Given the description of an element on the screen output the (x, y) to click on. 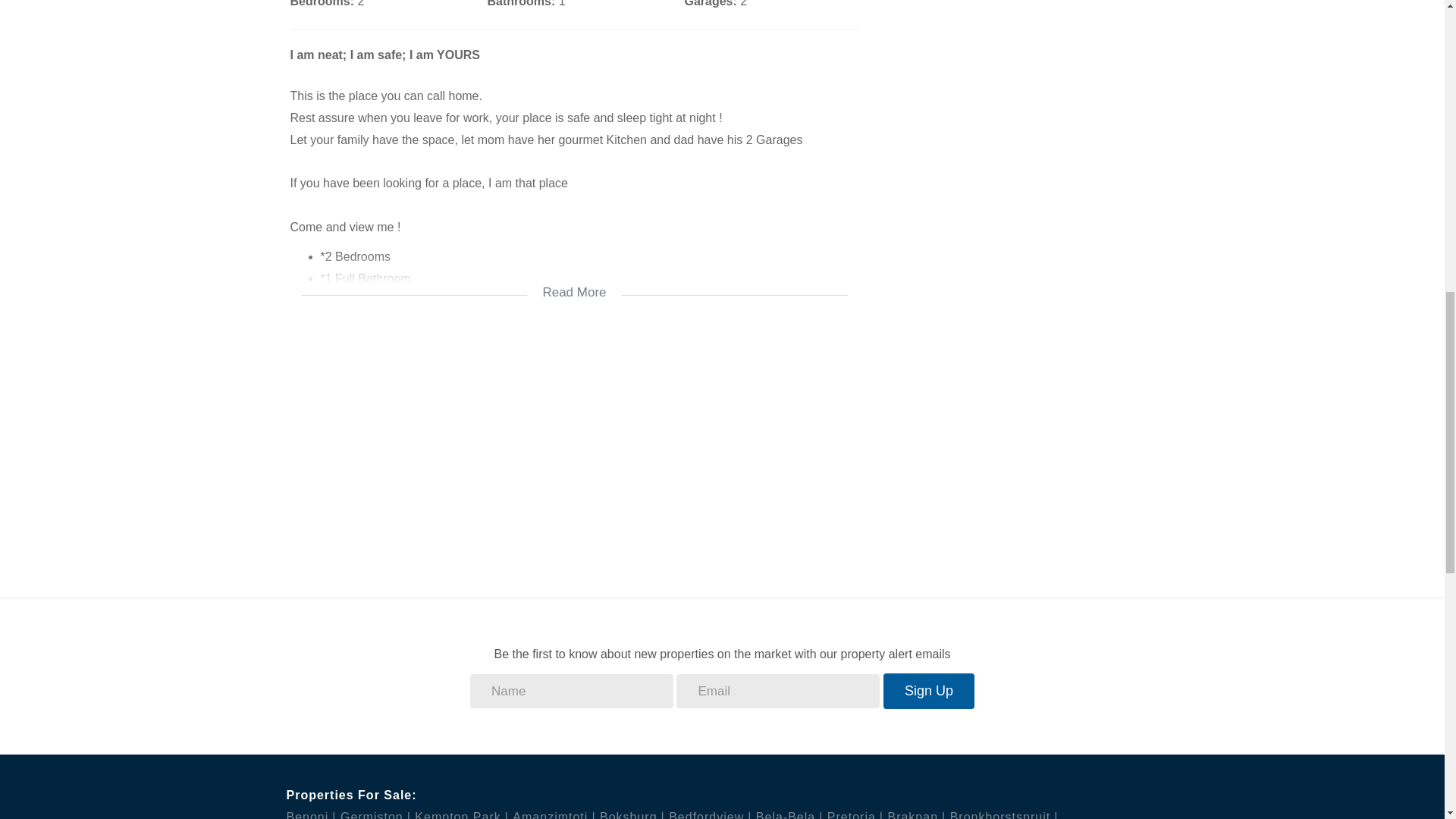
Properties for sale in Kempton Park (461, 814)
Properties for sale in Amanzimtoti (553, 814)
Properties for sale in Germiston (375, 814)
Properties for sale in Boksburg (632, 814)
Properties for sale in Brakpan (915, 814)
Properties for sale in Pretoria (855, 814)
Properties for sale in Benoni (311, 814)
Properties for sale in Bedfordview (709, 814)
Read More (574, 282)
google map (574, 445)
